Given the description of an element on the screen output the (x, y) to click on. 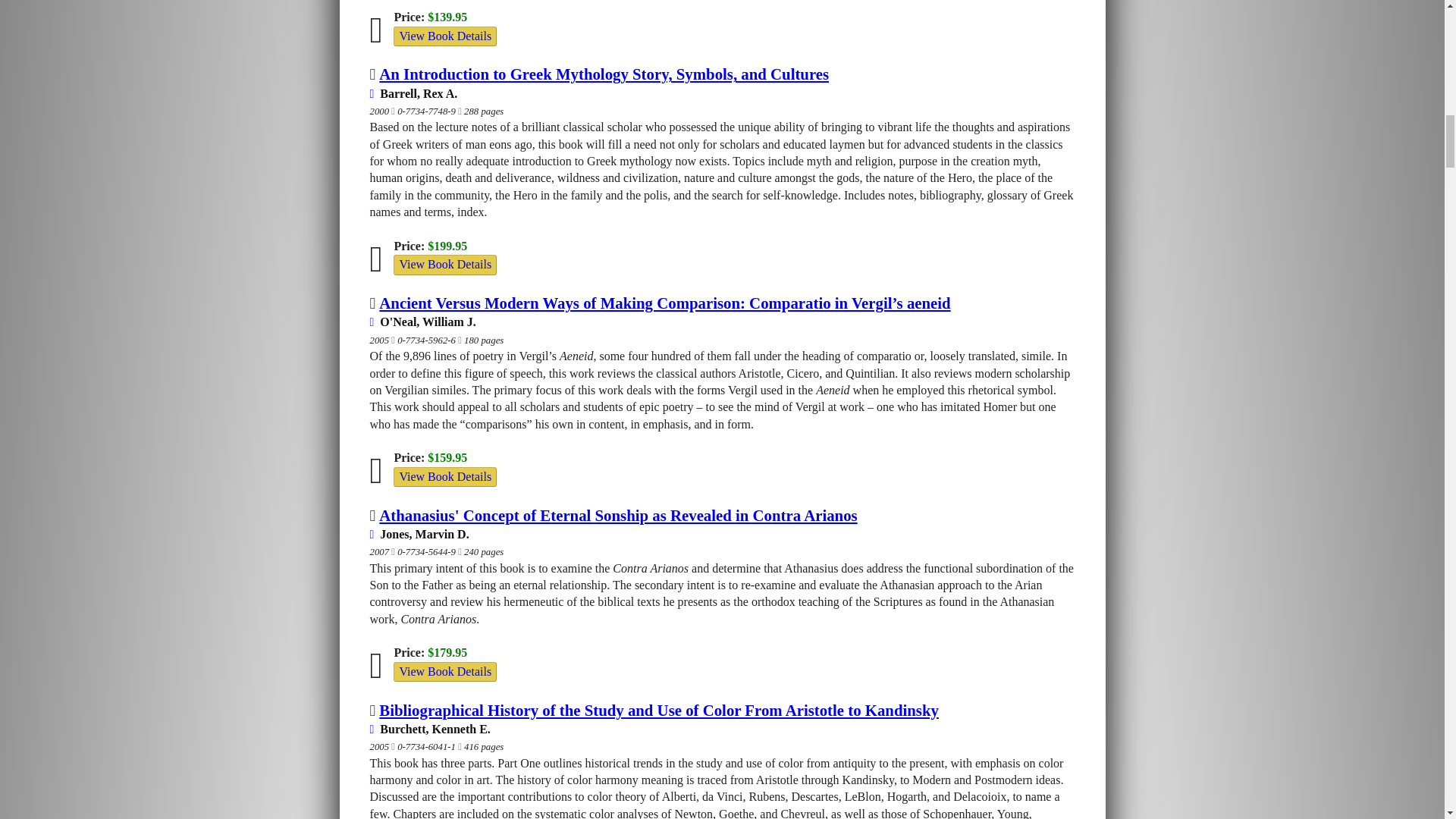
 Barrell, Rex A. (413, 92)
View Book Details (444, 476)
View Book Details (444, 35)
View Book Details (444, 35)
View Book Details (444, 476)
View Book Details (444, 264)
 O'Neal, William J. (422, 321)
View Book Details (444, 264)
